Given the description of an element on the screen output the (x, y) to click on. 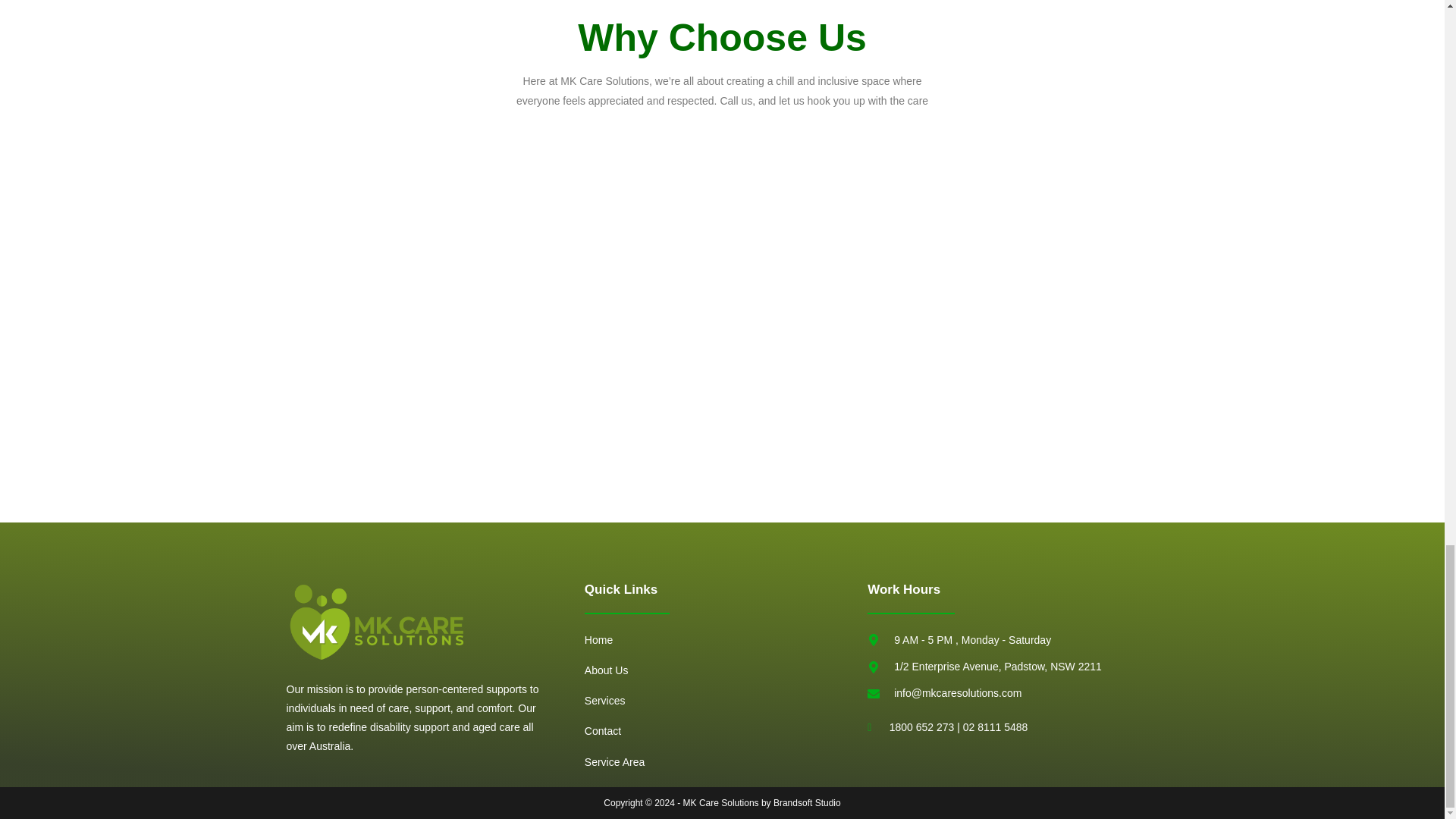
Services (726, 700)
Contact (726, 731)
Service Area (726, 762)
About Us (726, 670)
Home (726, 640)
9 AM - 5 PM , Monday - Saturday (1012, 640)
1800 652 273 (922, 727)
02 8111 5488 (994, 727)
